Given the description of an element on the screen output the (x, y) to click on. 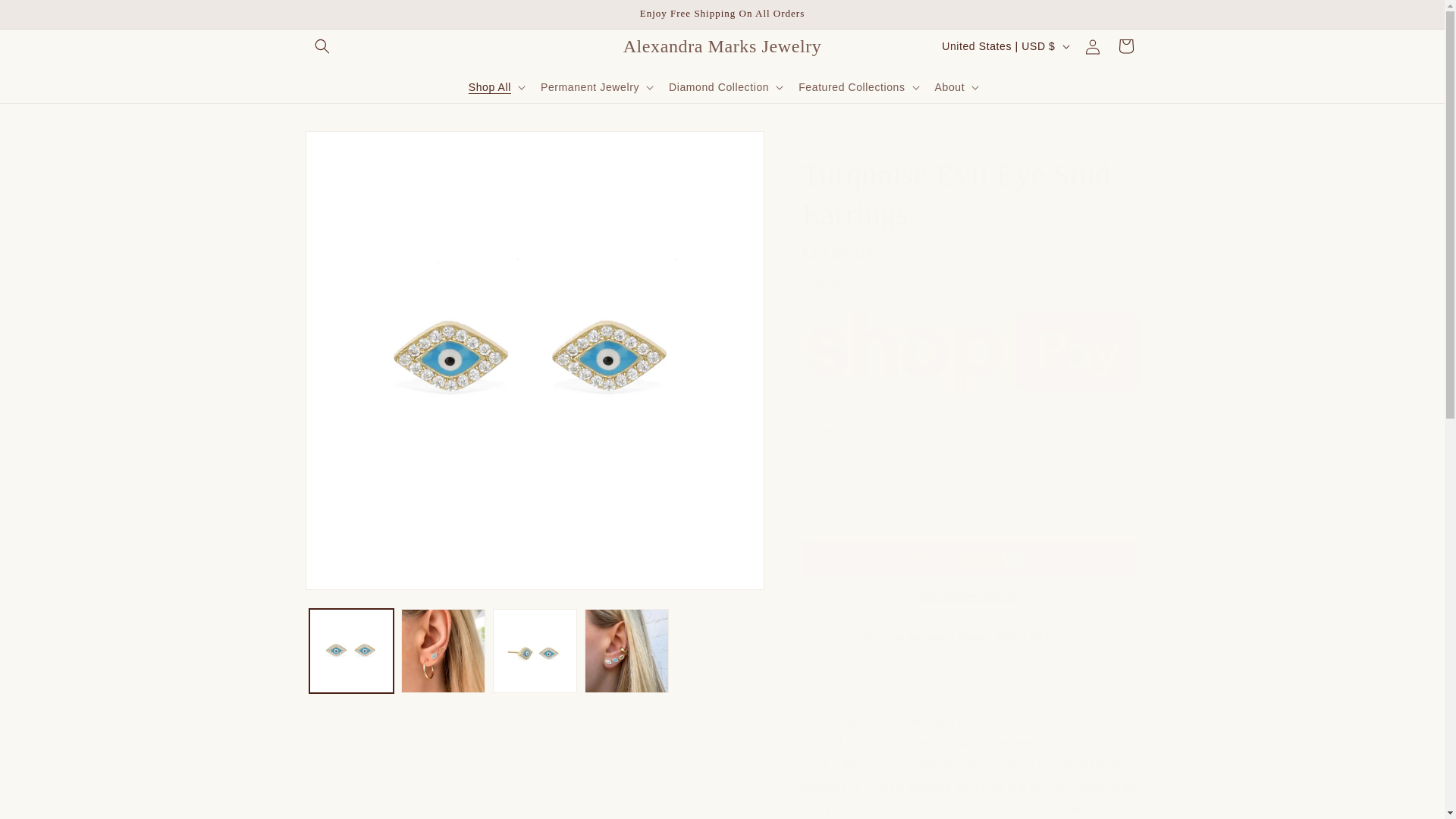
Skip to content (45, 17)
1 (856, 460)
